Given the description of an element on the screen output the (x, y) to click on. 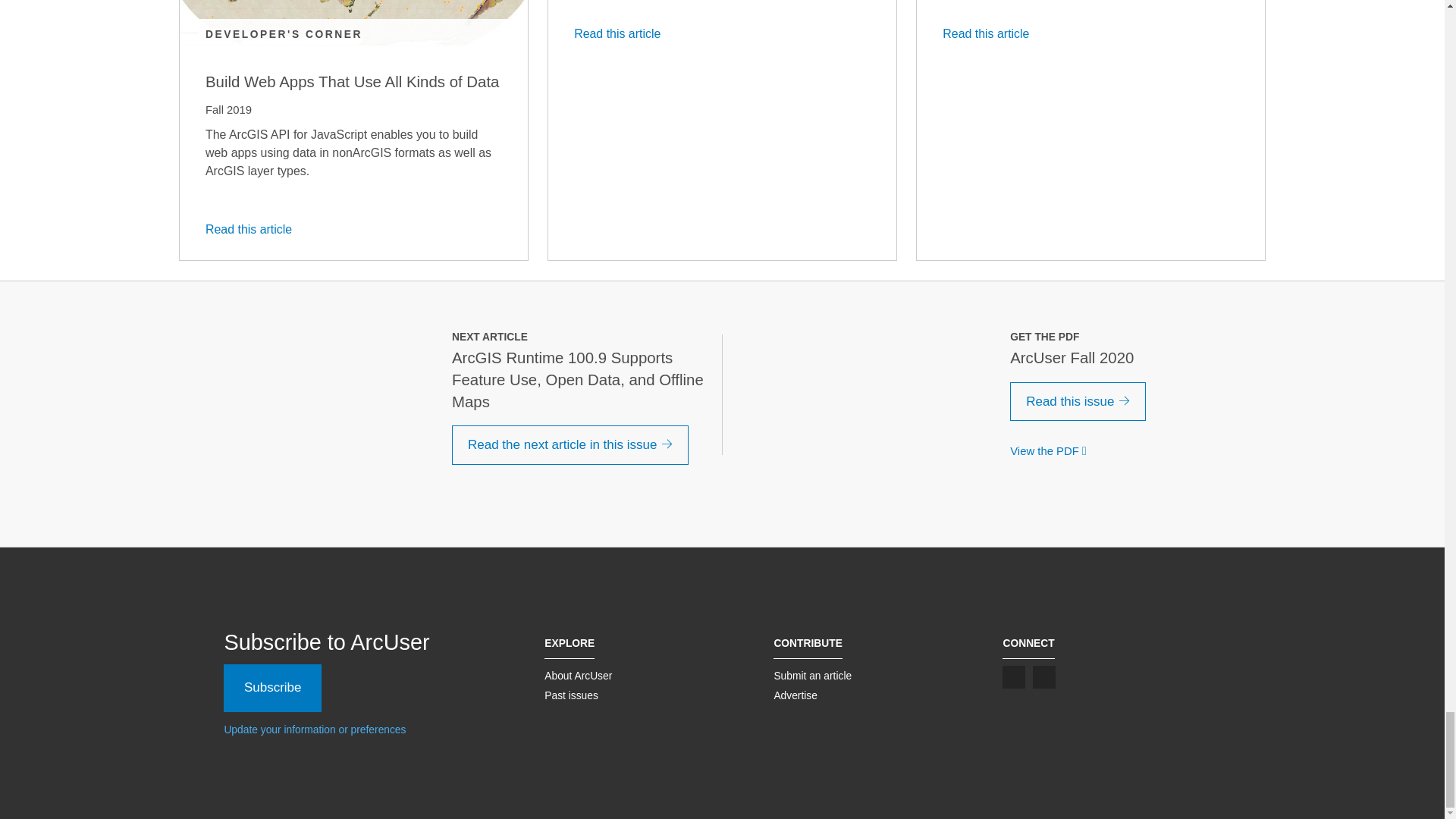
Past issues (571, 695)
Read the next article in this issue (569, 445)
Read this issue (1077, 401)
Subscribe (272, 687)
Read this article (253, 228)
View the PDF (1051, 451)
Read this article (621, 33)
Advertise (794, 695)
Update your information or preferences (315, 729)
Read this article (990, 33)
About ArcUser (577, 675)
Submit an article (812, 675)
